Given the description of an element on the screen output the (x, y) to click on. 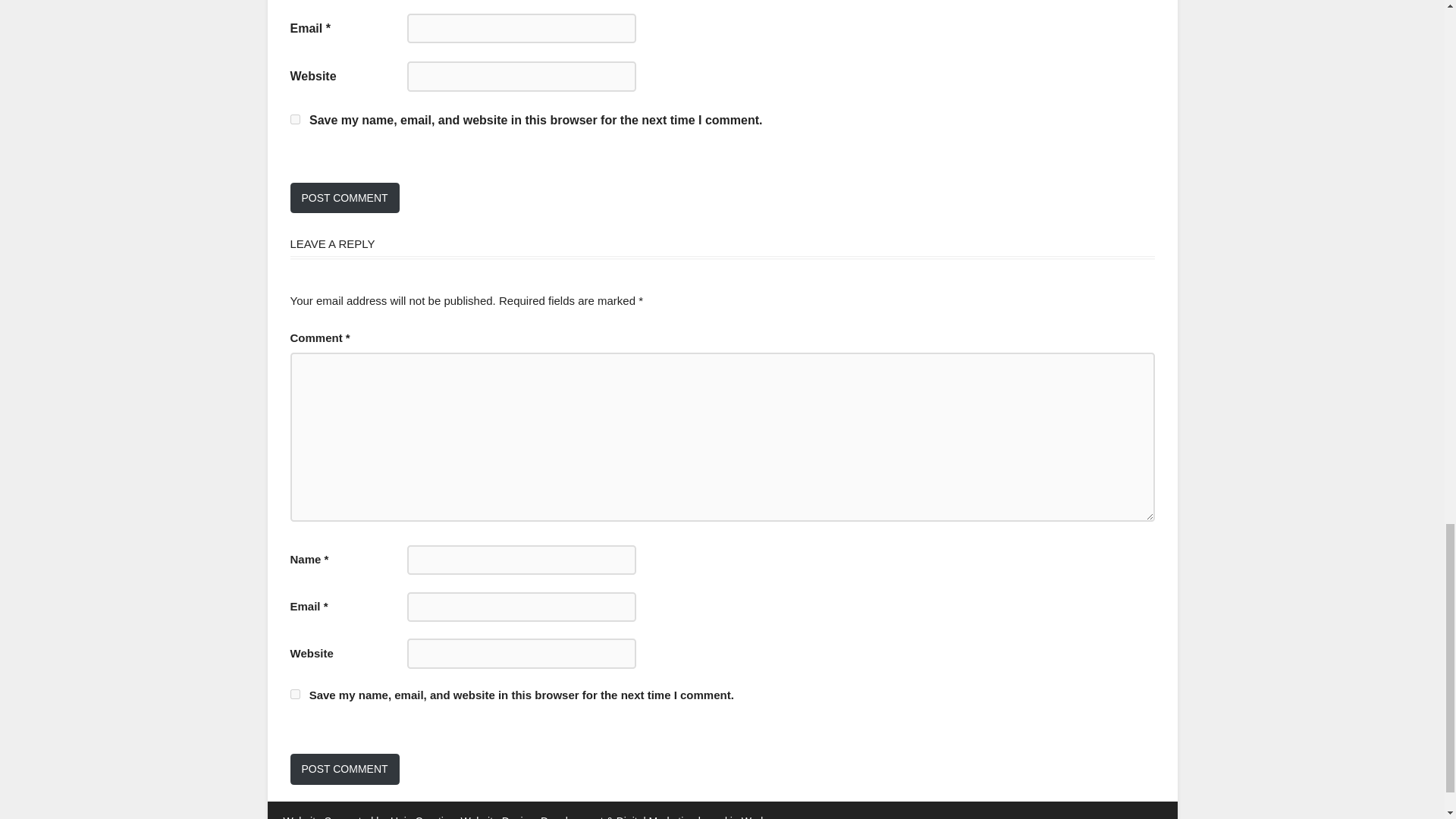
Post Comment (343, 197)
yes (294, 694)
Post Comment (343, 768)
Post Comment (343, 768)
yes (294, 119)
Post Comment (343, 197)
